Given the description of an element on the screen output the (x, y) to click on. 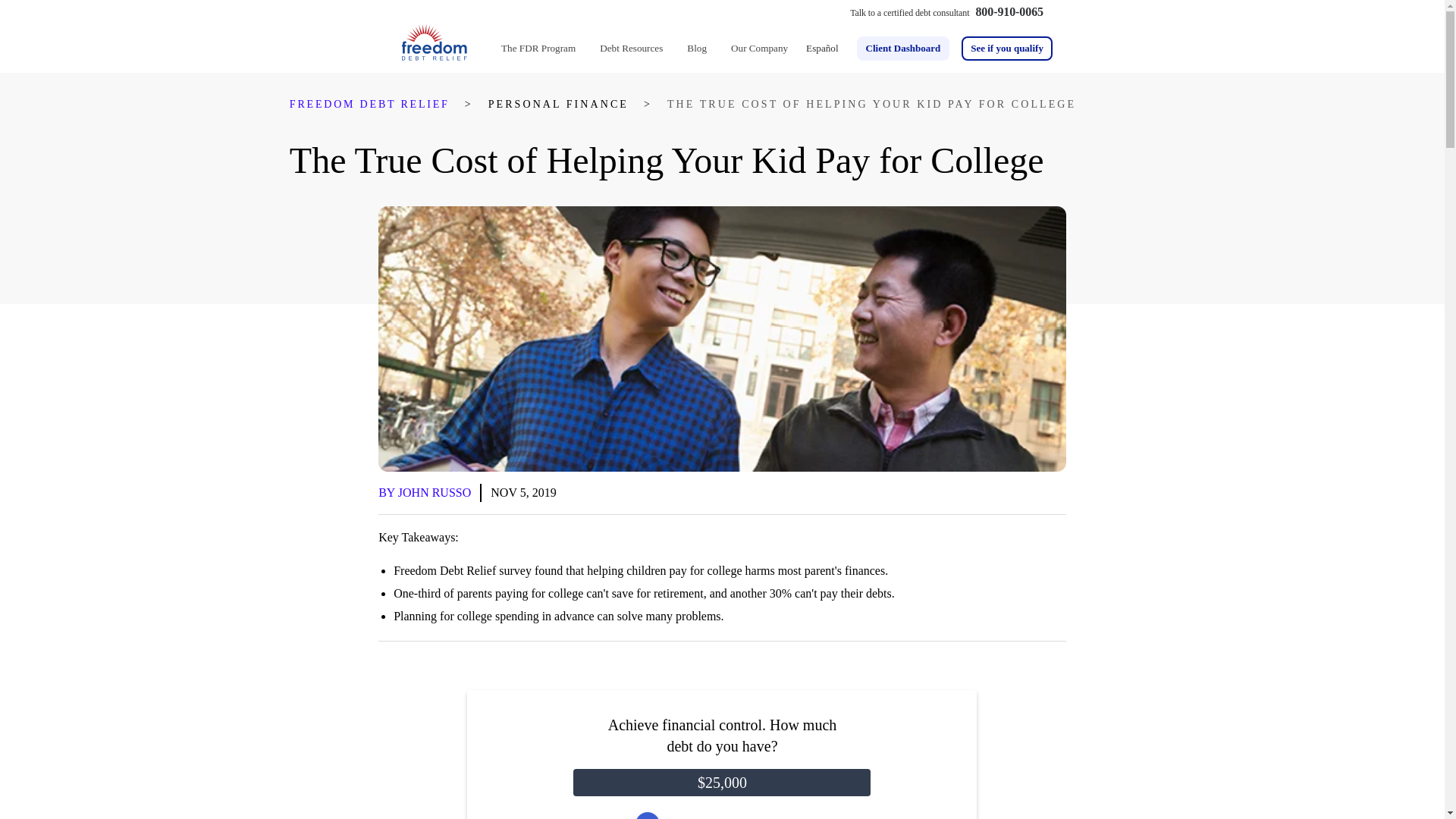
PERSONAL FINANCE (558, 104)
See if you qualify (1006, 48)
FREEDOM DEBT RELIEF (369, 104)
Client Dashboard (903, 48)
BY JOHN RUSSO (429, 493)
800-910-0065 (1008, 11)
